Given the description of an element on the screen output the (x, y) to click on. 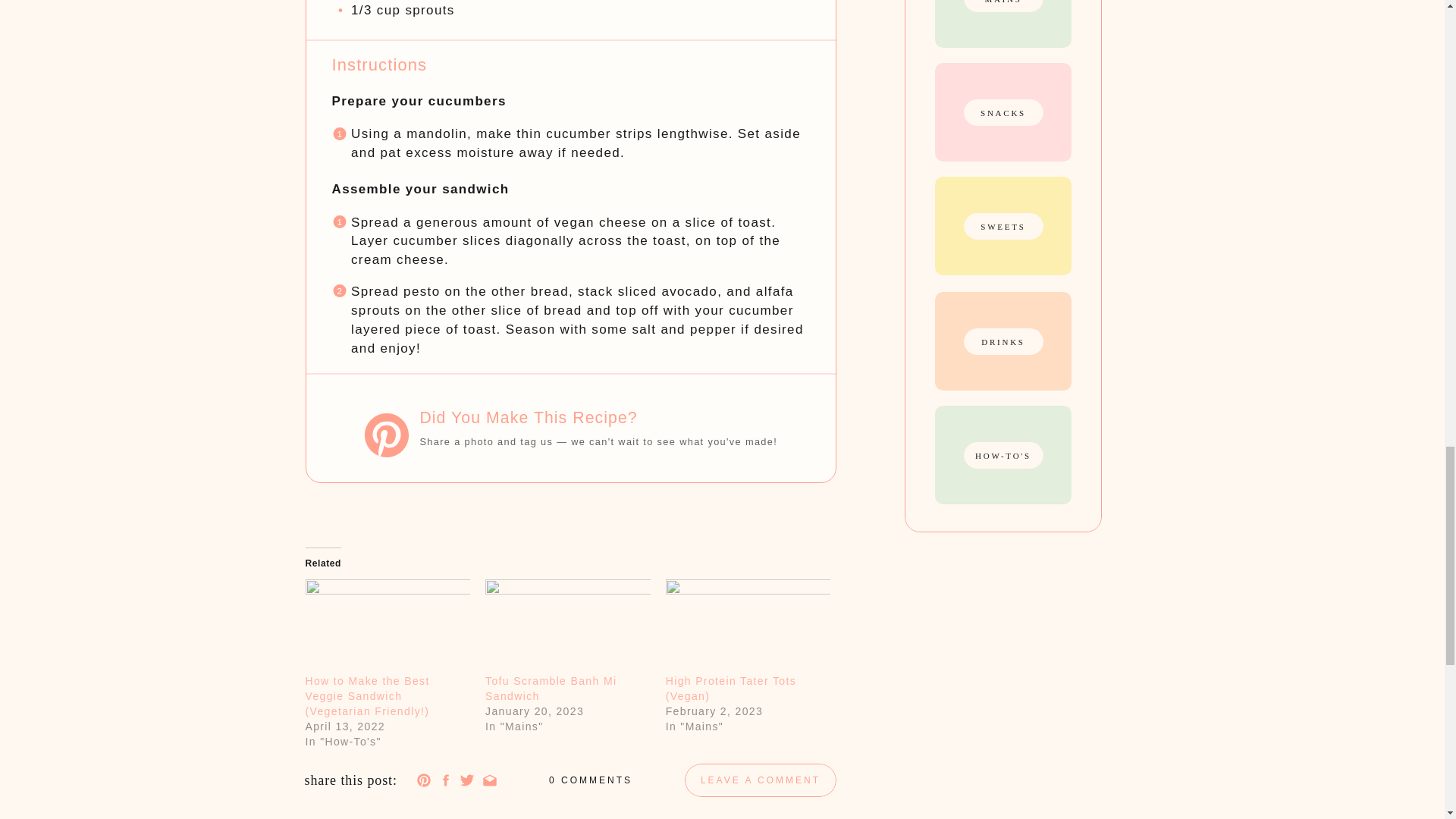
SWEETS (1002, 225)
Tofu Scramble Banh Mi Sandwich (567, 626)
SNACKS (1002, 111)
MAINS (1002, 2)
HOW-TO'S (1002, 454)
Tofu Scramble Banh Mi Sandwich (549, 687)
DRINKS (1002, 340)
